Given the description of an element on the screen output the (x, y) to click on. 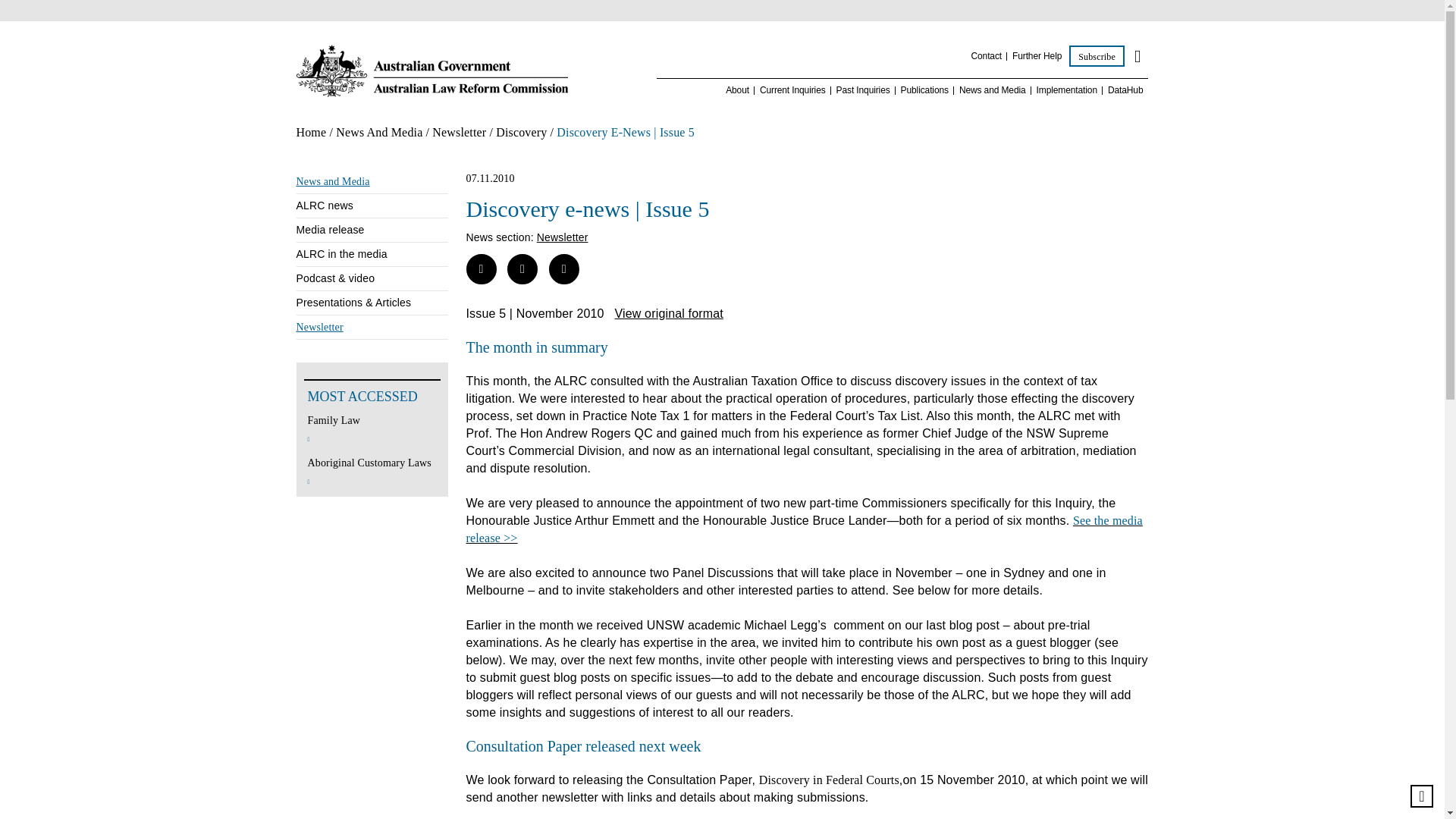
Further help (1036, 56)
Subscribe (1096, 55)
Australian Law Reform Commission (431, 71)
Contact (986, 56)
Current Inquiries (792, 90)
About (737, 90)
Current Inquiries (792, 90)
Past Inquiries (862, 90)
Past Inquiries (862, 90)
Publications (925, 90)
Subscribe (1096, 55)
Further Help (1036, 56)
About (737, 90)
Contact (986, 56)
